Given the description of an element on the screen output the (x, y) to click on. 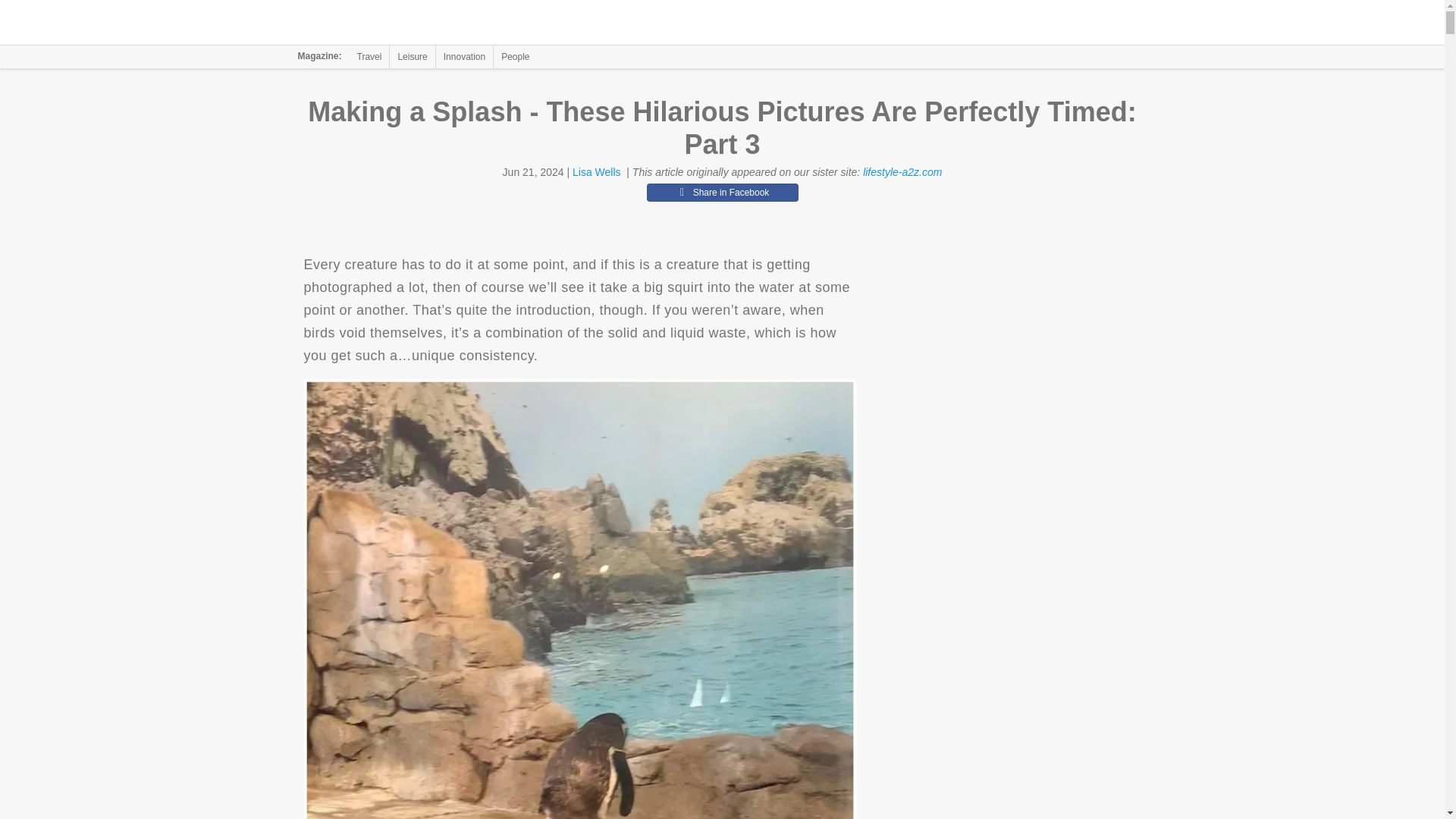
Leisure (411, 56)
Share in Facebook (721, 192)
lifestyle-a2z.com (902, 172)
The Jerusalem Post Magazine (391, 22)
Lisa Wells (596, 172)
Innovation (464, 56)
People (515, 56)
Travel (369, 56)
